Given the description of an element on the screen output the (x, y) to click on. 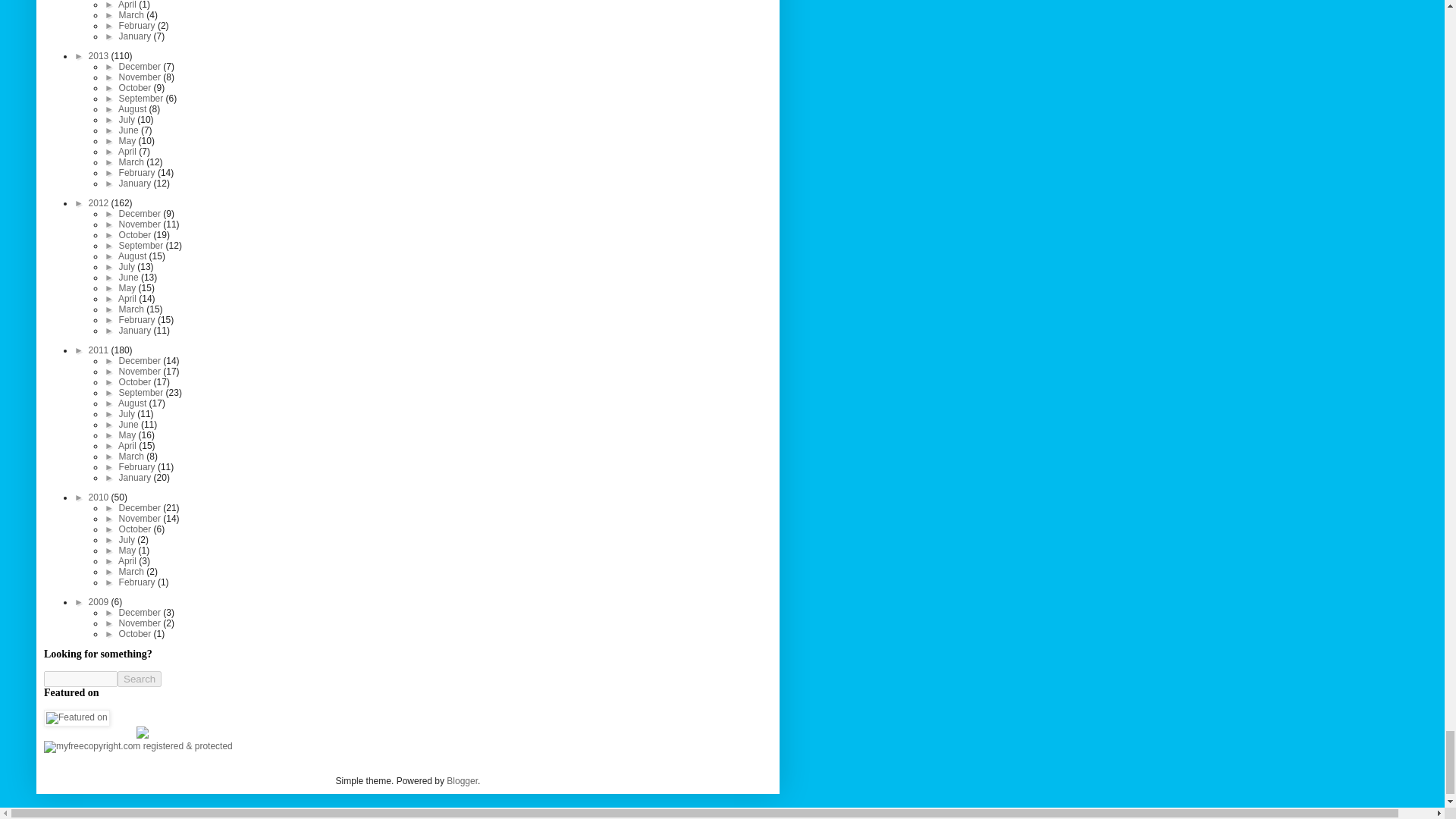
copyright protected (137, 746)
search (80, 678)
search (139, 678)
Search (139, 678)
Search (139, 678)
